Given the description of an element on the screen output the (x, y) to click on. 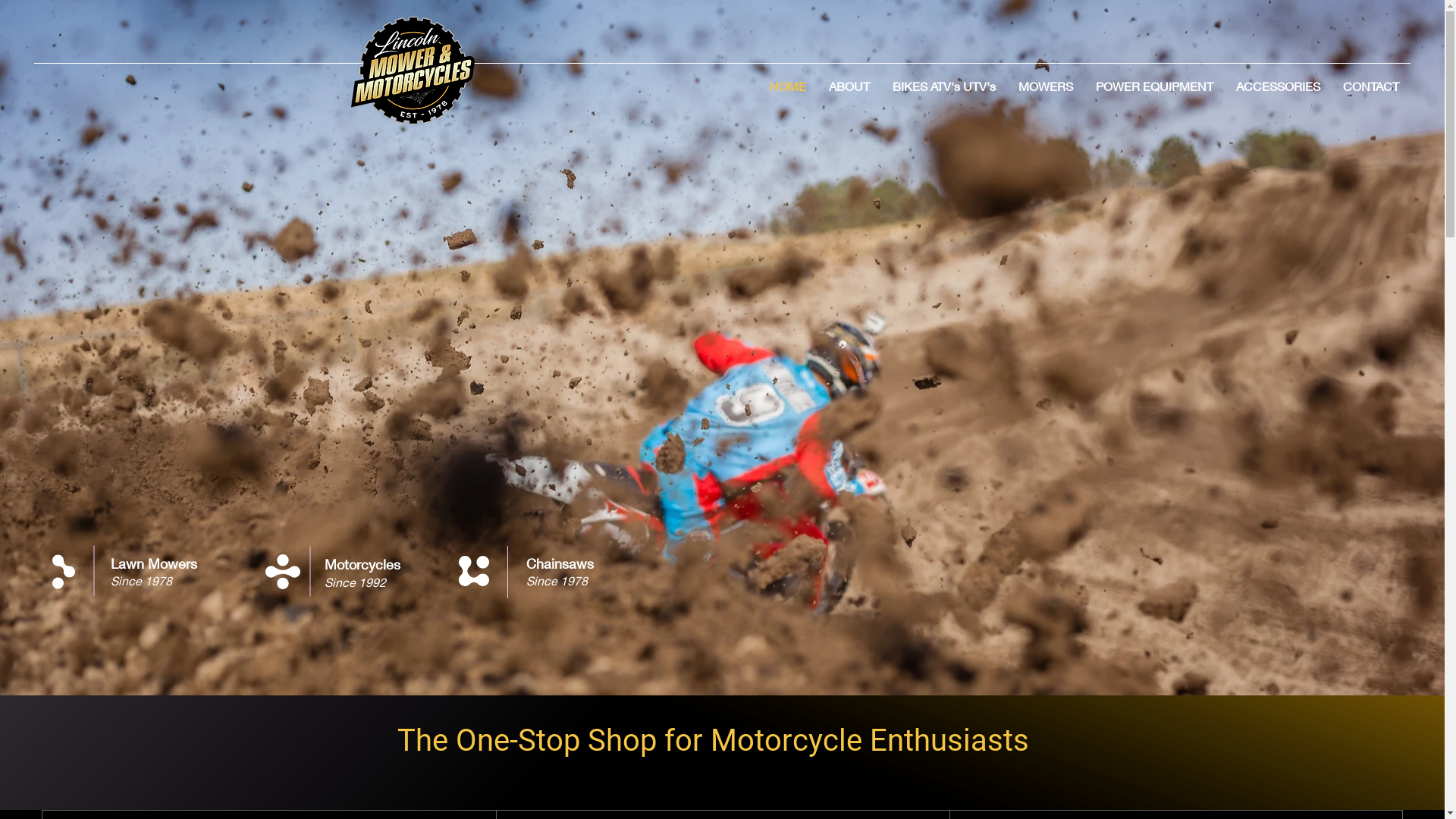
CONTACT Element type: text (1370, 85)
MOWERS Element type: text (1045, 85)
ACCESSORIES Element type: text (1277, 85)
Motorcycles Element type: text (362, 563)
HOME Element type: text (787, 85)
ABOUT Element type: text (849, 85)
Lawn Mowers Element type: text (153, 563)
POWER EQUIPMENT Element type: text (1154, 85)
BIKES ATV's UTV's Element type: text (944, 85)
Chainsaws
Since 1978 Element type: text (559, 571)
